Given the description of an element on the screen output the (x, y) to click on. 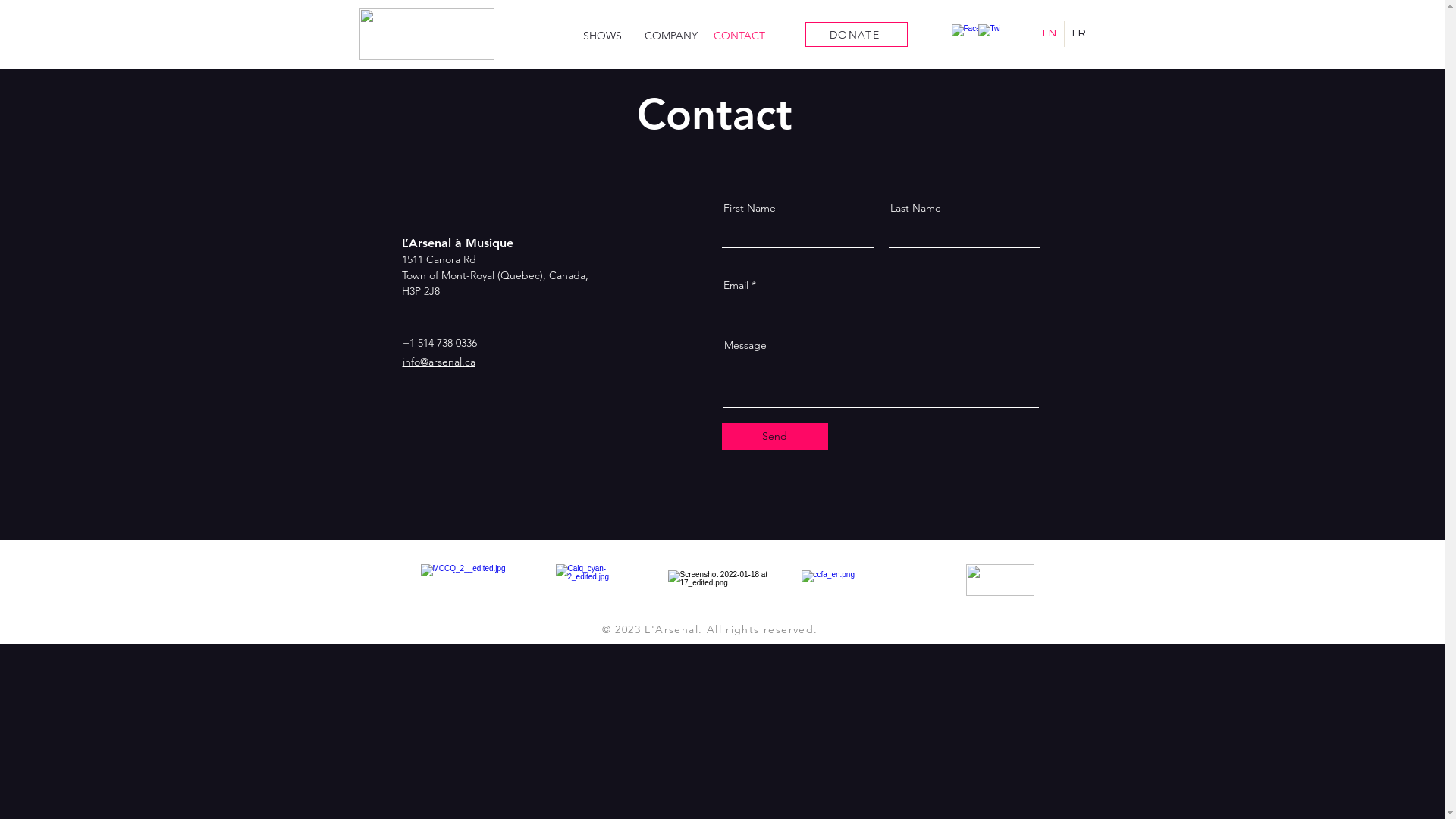
EN Element type: text (1048, 34)
info@arsenal.ca Element type: text (437, 361)
DONATE Element type: text (856, 34)
CONTACT Element type: text (739, 35)
6420_08 ARSENAL_logo Transparent.gif Element type: hover (426, 33)
SHOWS Element type: text (602, 35)
COMPANY Element type: text (671, 35)
Send Element type: text (774, 436)
noir_Logo_CAM.Mtl.png Element type: hover (1000, 580)
FR Element type: text (1078, 34)
